Given the description of an element on the screen output the (x, y) to click on. 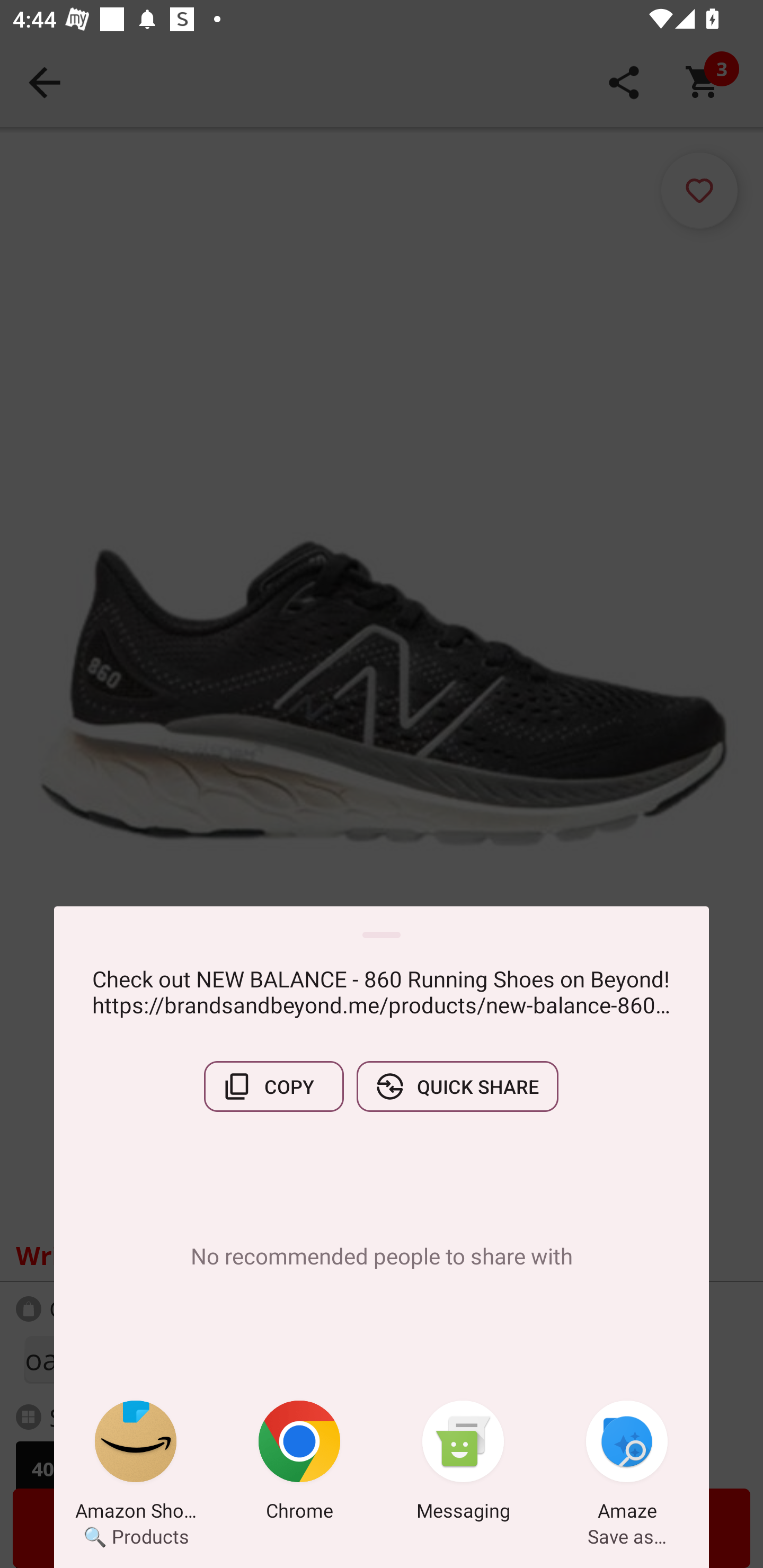
COPY (273, 1086)
QUICK SHARE (457, 1086)
Amazon Shopping 🔍 Products (135, 1463)
Chrome (299, 1463)
Messaging (463, 1463)
Amaze Save as… (626, 1463)
